Given the description of an element on the screen output the (x, y) to click on. 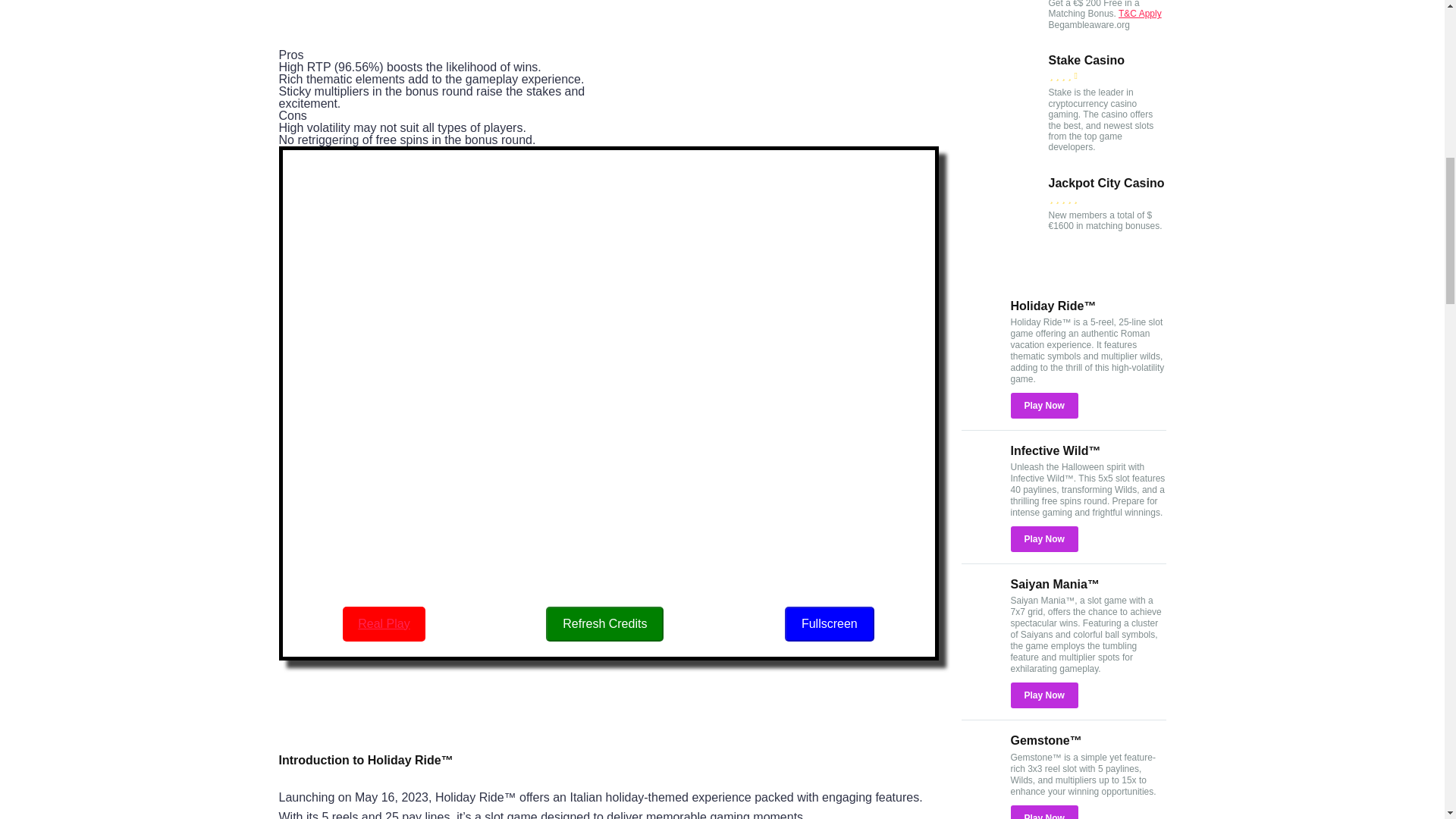
Refresh Credits (604, 623)
Fullscreen (829, 623)
Real Play (383, 623)
